Given the description of an element on the screen output the (x, y) to click on. 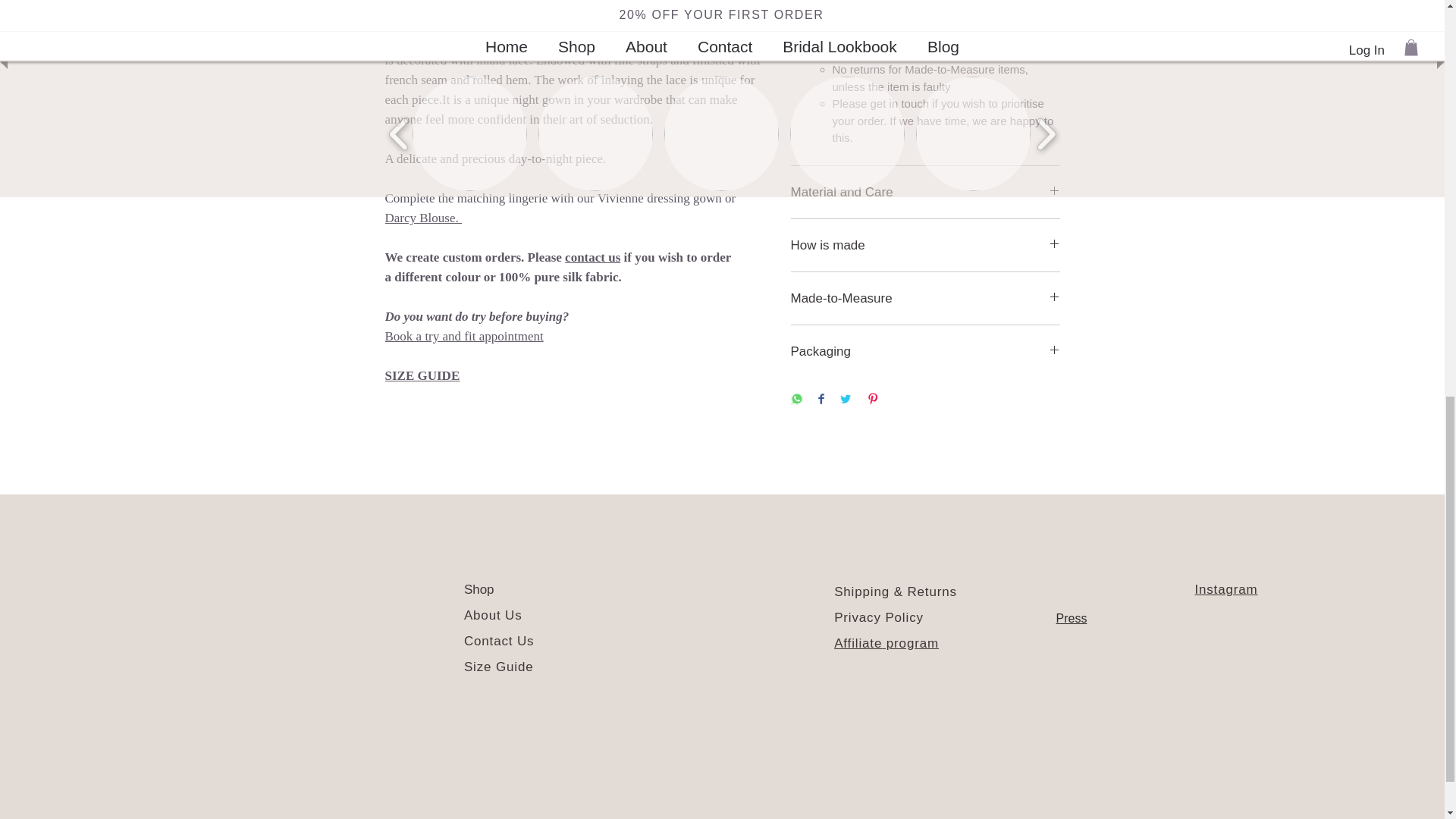
Book a try and fit appointment (464, 336)
Shop (479, 589)
contact us (592, 257)
SIZE GUIDE (422, 375)
How is made (924, 245)
Packaging (924, 351)
Material and Care (924, 191)
Darcy Blouse.  (424, 217)
Made-to-Measure (924, 298)
